Given the description of an element on the screen output the (x, y) to click on. 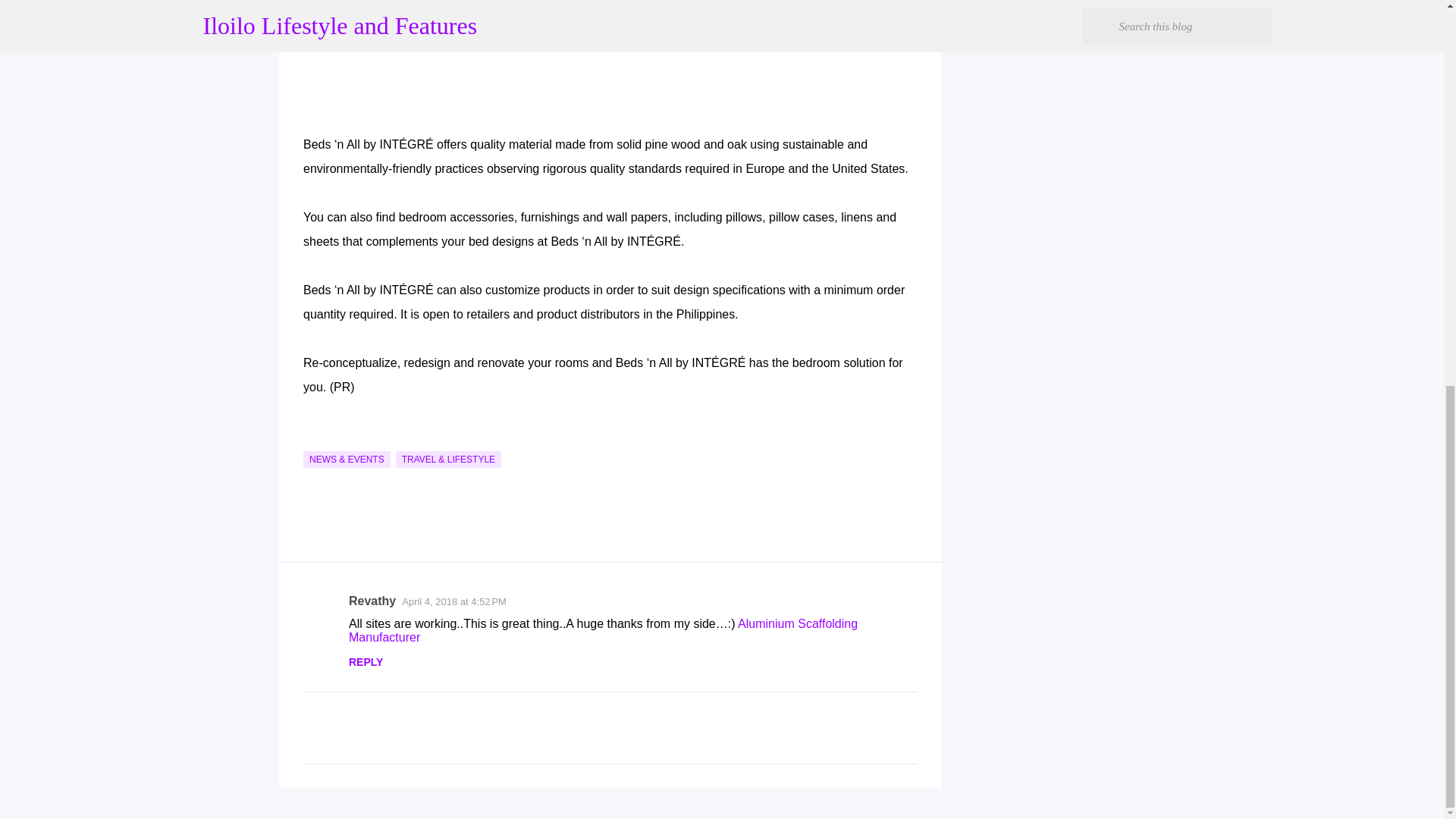
Revathy (372, 600)
REPLY (365, 662)
Aluminium Scaffolding Manufacturer (603, 630)
